Given the description of an element on the screen output the (x, y) to click on. 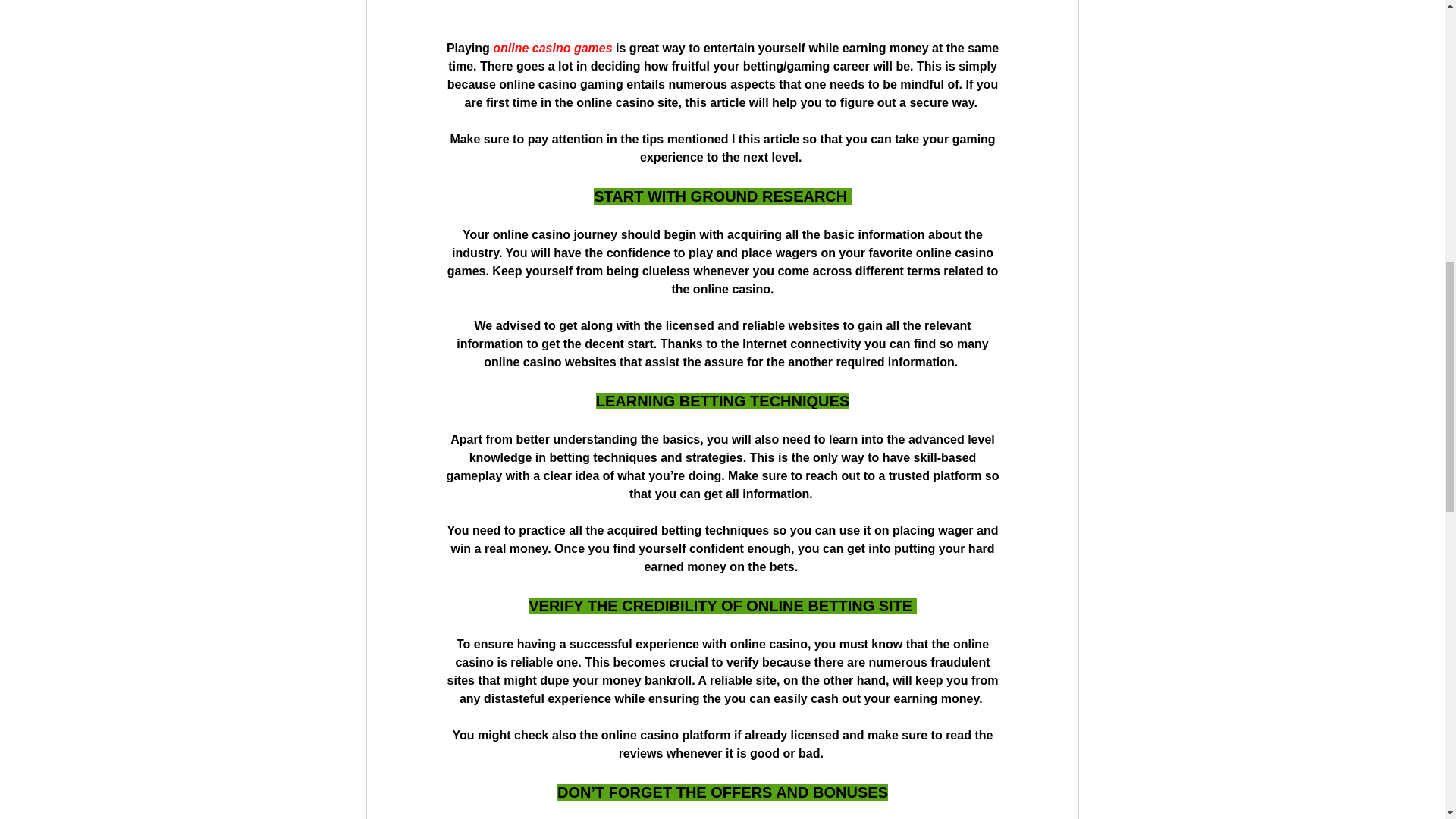
online casino games (552, 47)
